Given the description of an element on the screen output the (x, y) to click on. 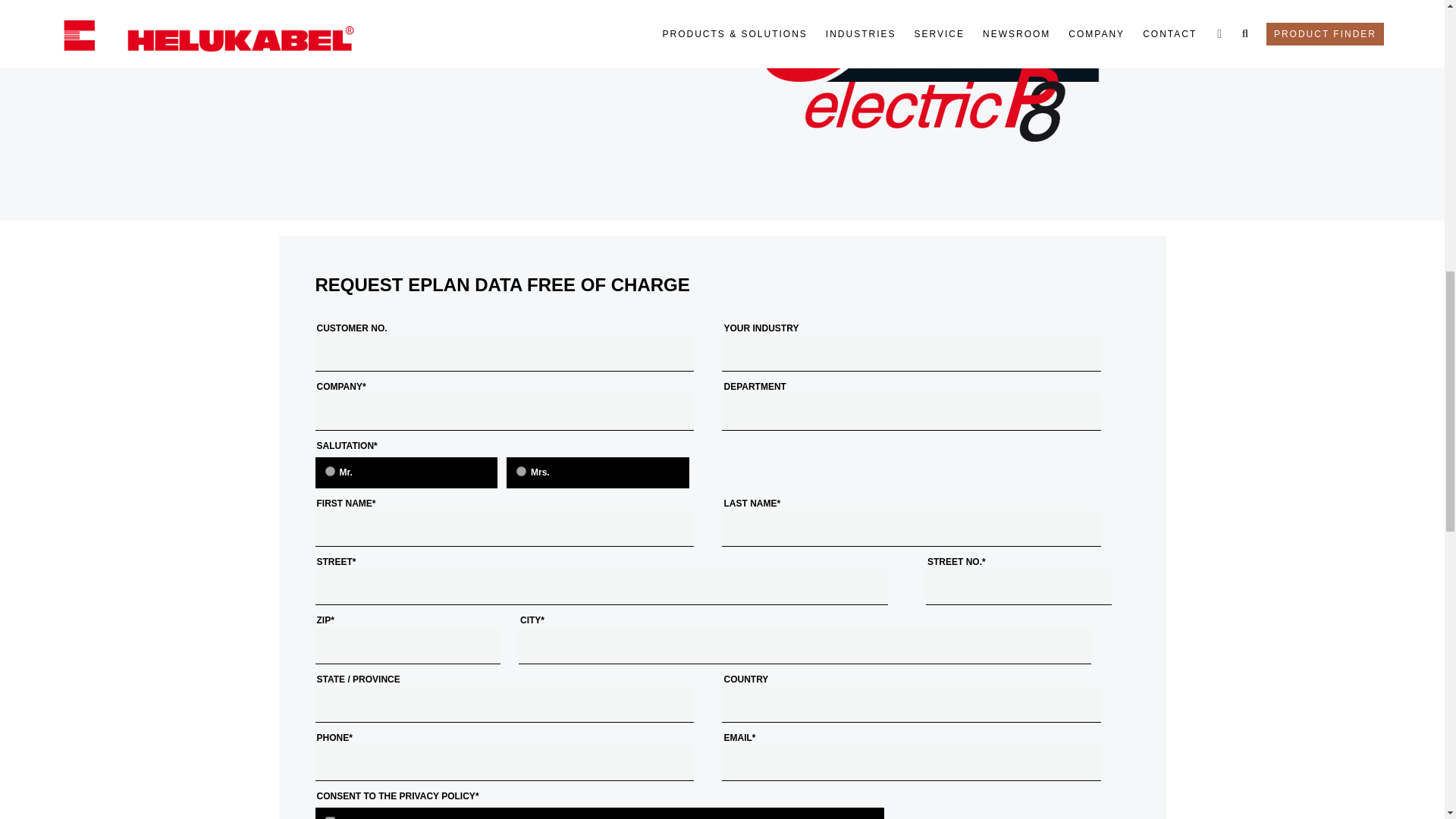
Mrs. (520, 470)
Eplan Logo (937, 95)
Mr. (329, 470)
